Given the description of an element on the screen output the (x, y) to click on. 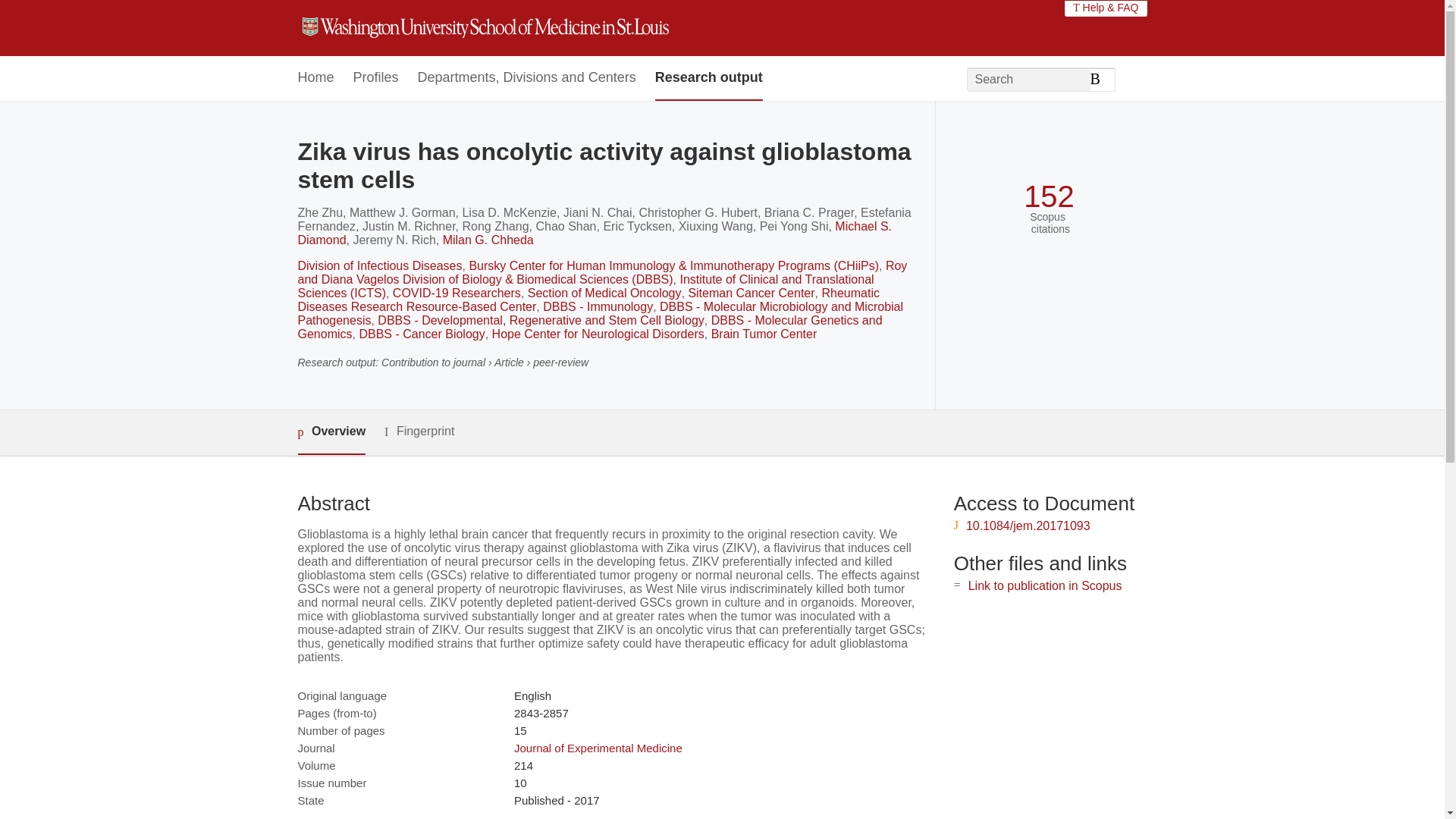
DBBS - Molecular Genetics and Genomics (589, 326)
DBBS - Molecular Microbiology and Microbial Pathogenesis (599, 313)
Research output (708, 78)
DBBS - Immunology (597, 306)
Journal of Experimental Medicine (597, 748)
Rheumatic Diseases Research Resource-Based Center (588, 299)
Overview (331, 432)
Division of Infectious Diseases (379, 265)
DBBS - Developmental, Regenerative and Stem Cell Biology (540, 319)
Hope Center for Neurological Disorders (598, 333)
Link to publication in Scopus (1045, 585)
Siteman Cancer Center (750, 292)
Section of Medical Oncology (604, 292)
